Given the description of an element on the screen output the (x, y) to click on. 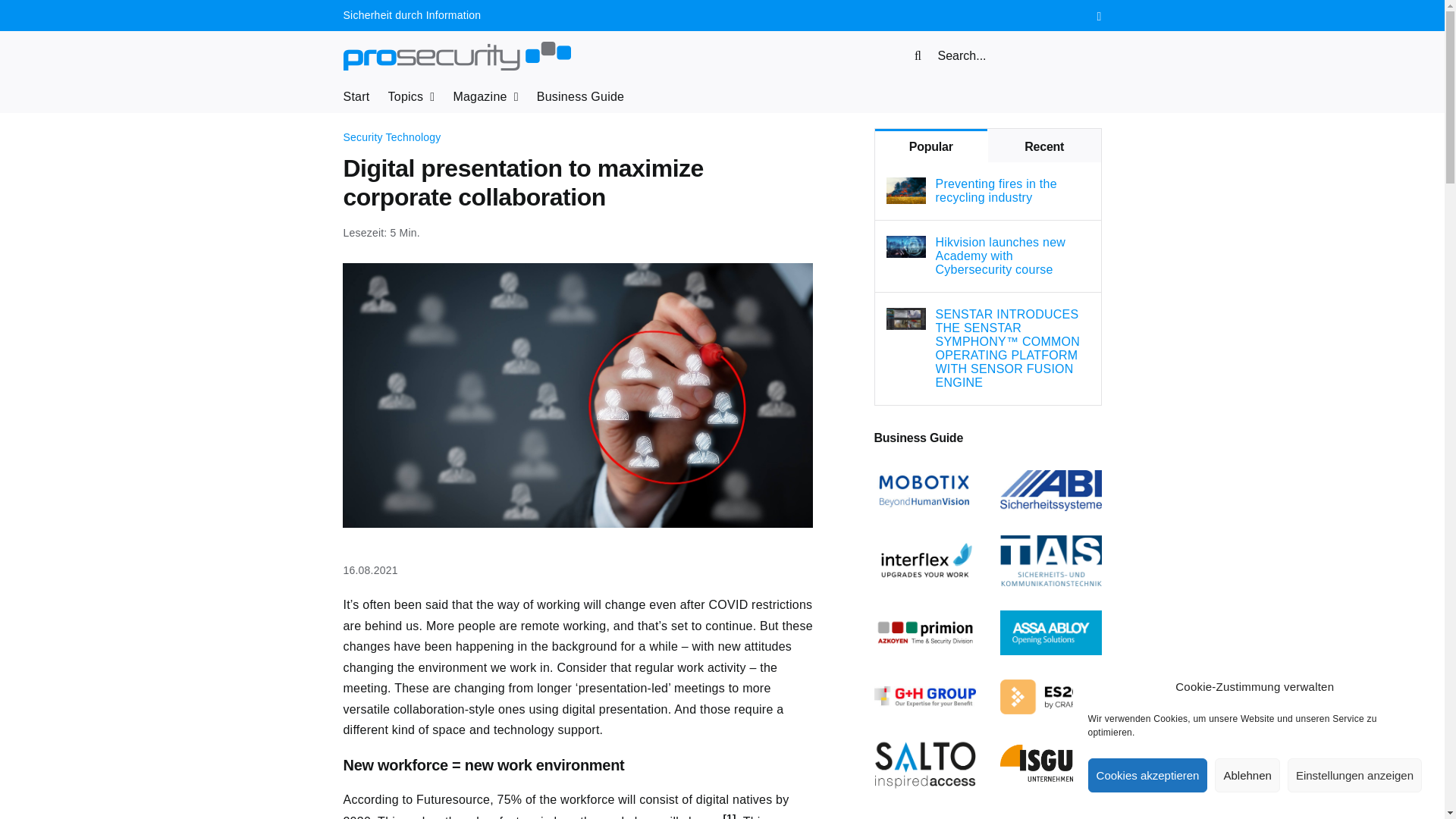
Business Guide (580, 96)
Magazine (485, 96)
Einstellungen anzeigen (1354, 775)
Topics (411, 96)
Cookies akzeptieren (1147, 775)
Ablehnen (1246, 775)
